Given the description of an element on the screen output the (x, y) to click on. 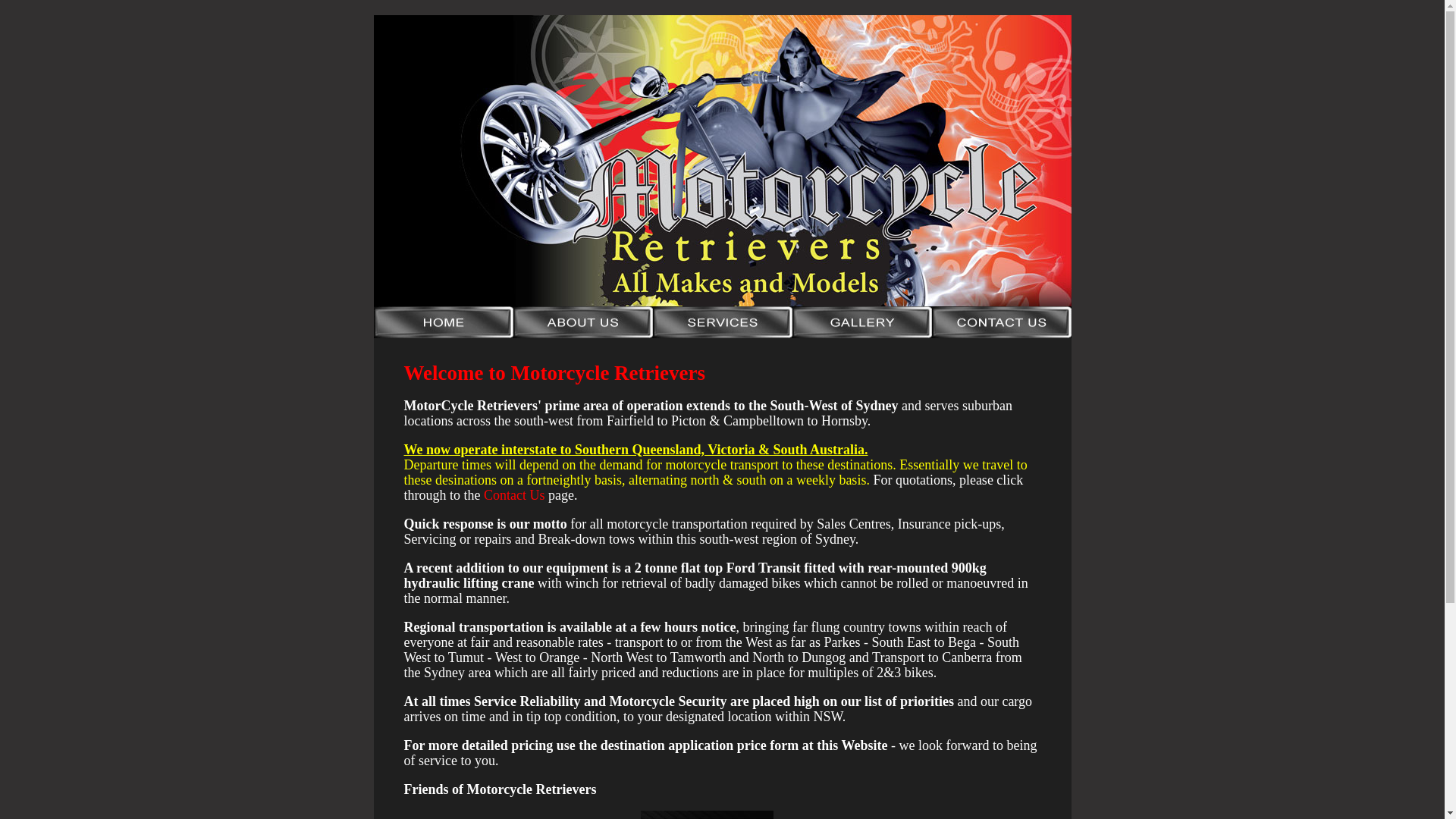
Contact Us Element type: text (514, 494)
